Given the description of an element on the screen output the (x, y) to click on. 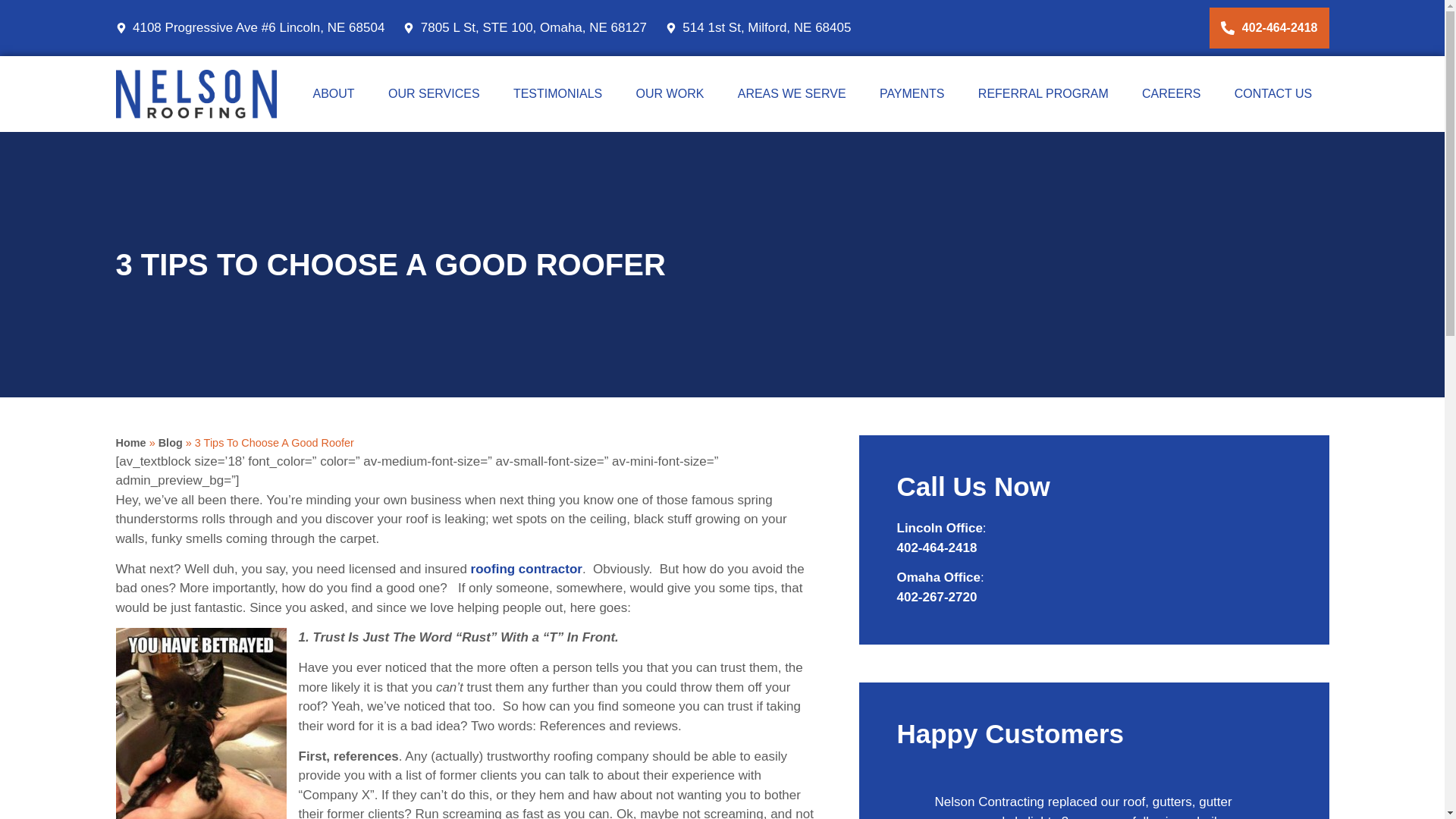
CONTACT US (1273, 93)
OUR SERVICES (433, 93)
REFERRAL PROGRAM (1042, 93)
TESTIMONIALS (558, 93)
OUR WORK (669, 93)
AREAS WE SERVE (791, 93)
PAYMENTS (911, 93)
CAREERS (1171, 93)
402-464-2418 (1269, 27)
ABOUT (333, 93)
